Given the description of an element on the screen output the (x, y) to click on. 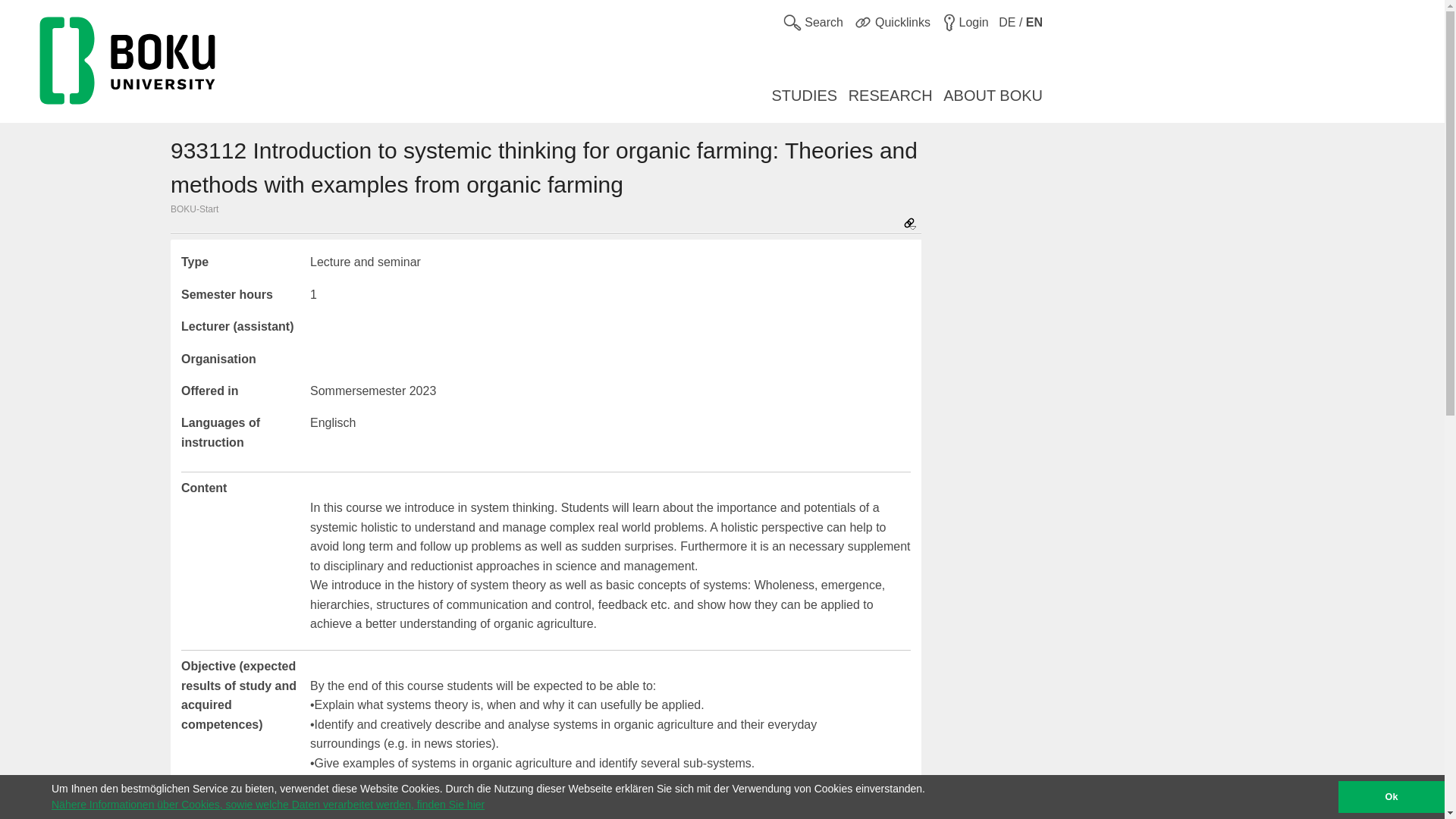
Search (792, 22)
Quicklinks (862, 22)
Search (813, 23)
Quicklinks (891, 23)
